Given the description of an element on the screen output the (x, y) to click on. 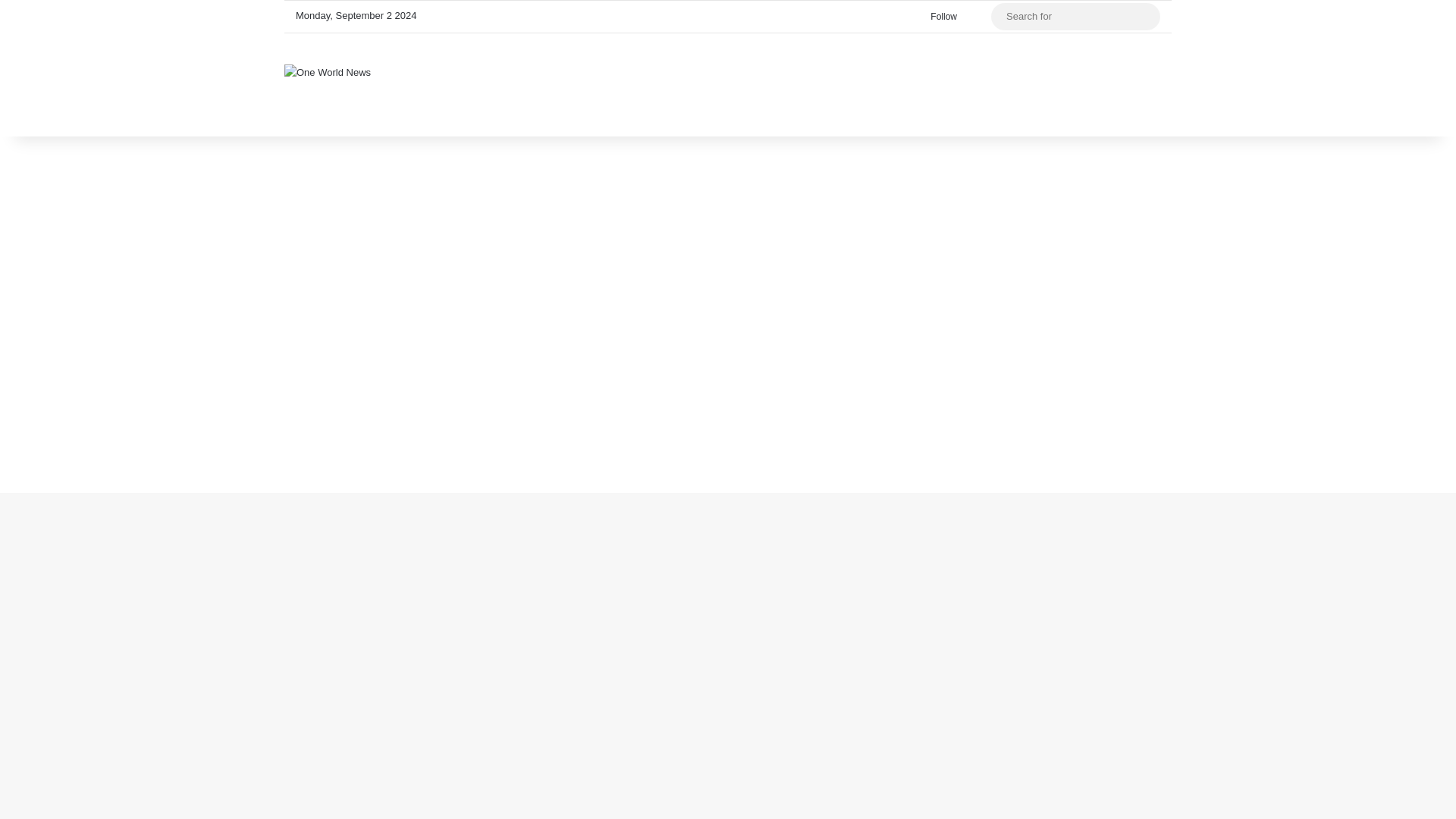
Follow (941, 16)
Search for (1144, 16)
Search for (1075, 16)
One World News (327, 71)
